Given the description of an element on the screen output the (x, y) to click on. 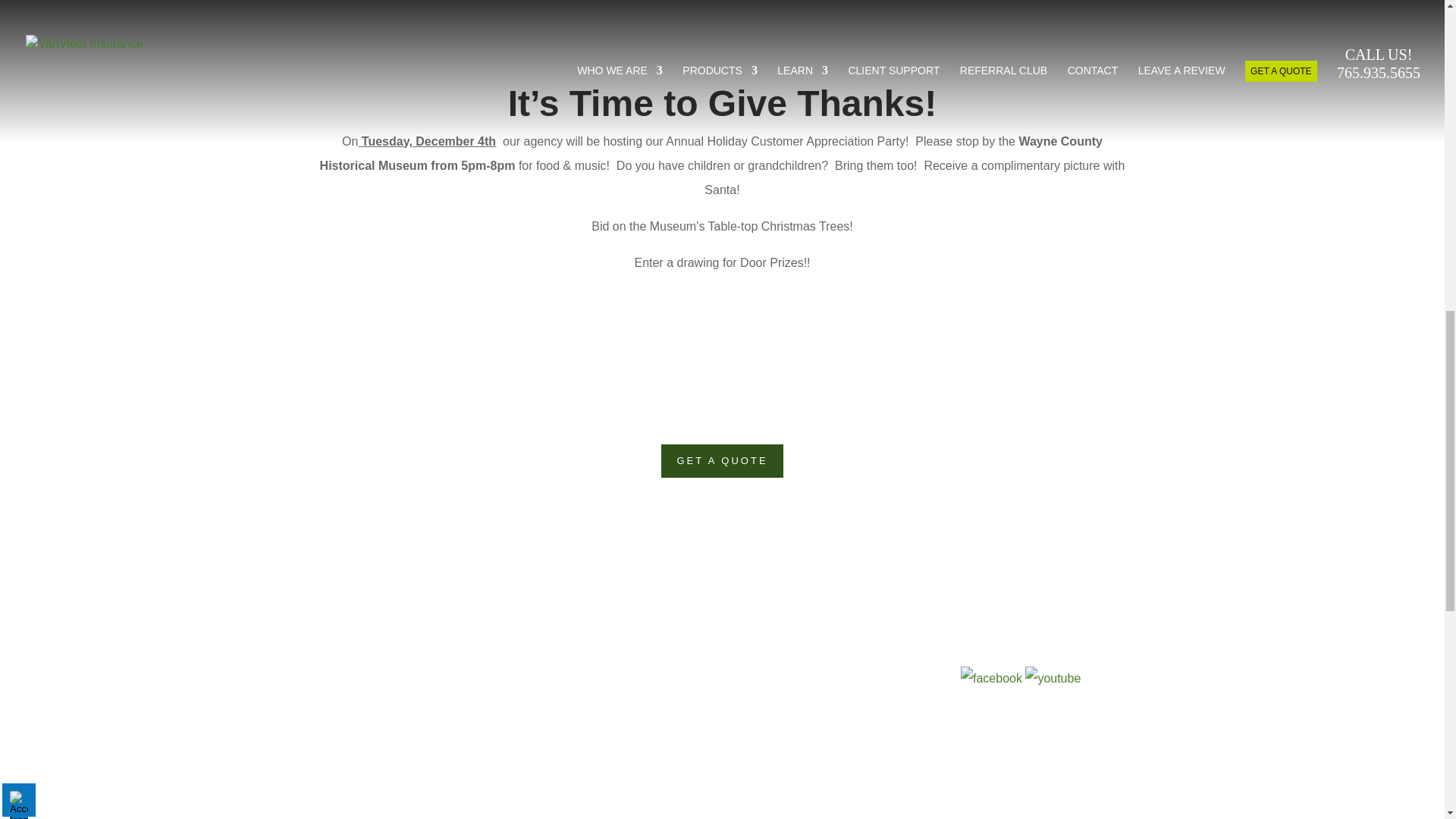
GET A QUOTE (722, 460)
765.935.5655 (810, 409)
vanvleet pilgrams flat2 (722, 36)
